Given the description of an element on the screen output the (x, y) to click on. 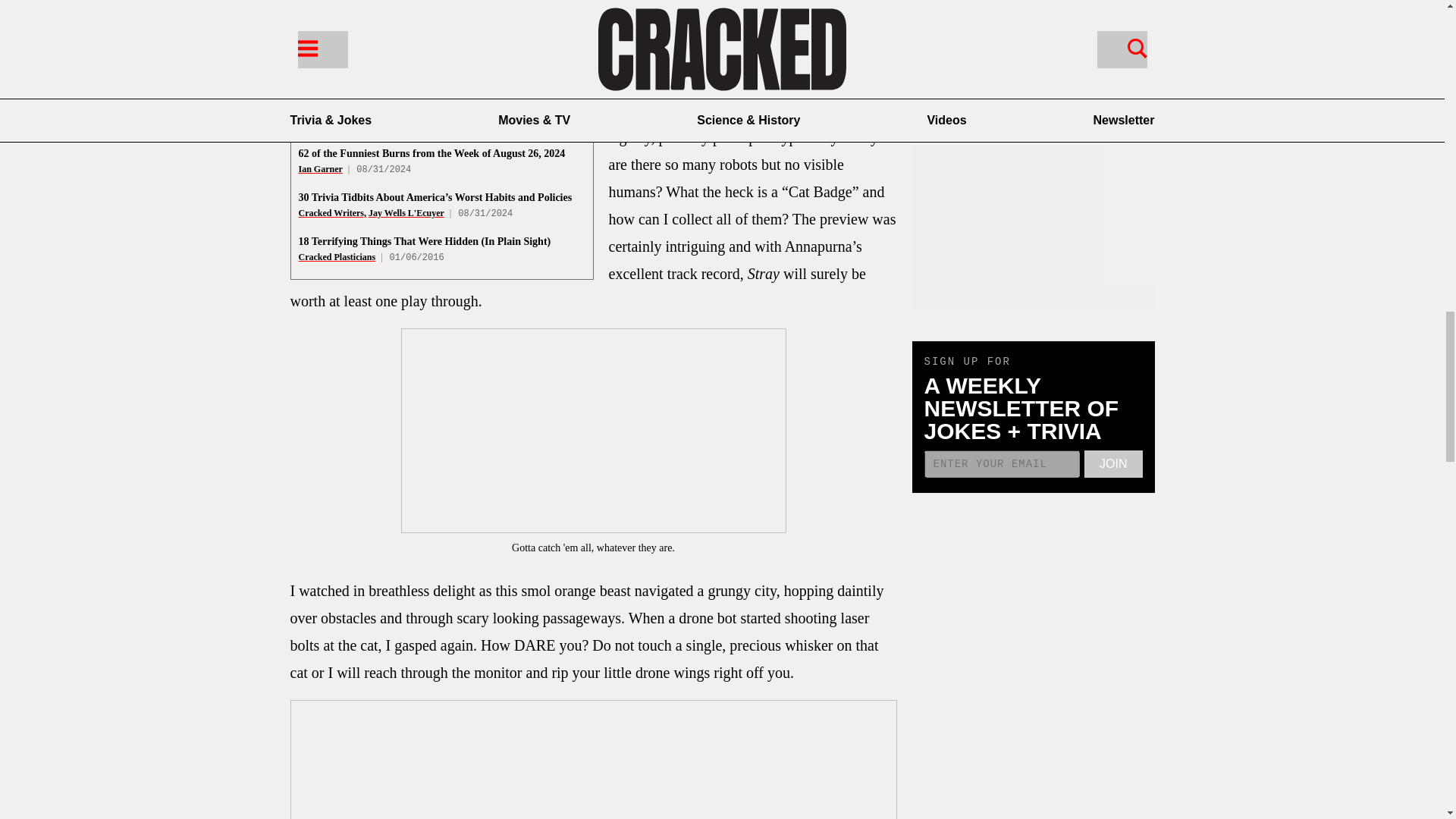
Cracked Writers, (332, 213)
62 of the Funniest Burns from the Week of August 26, 2024 (432, 153)
Ian Garner (320, 168)
Jay Wells L'Ecuyer (406, 213)
ALL IN on cats now (829, 0)
